Given the description of an element on the screen output the (x, y) to click on. 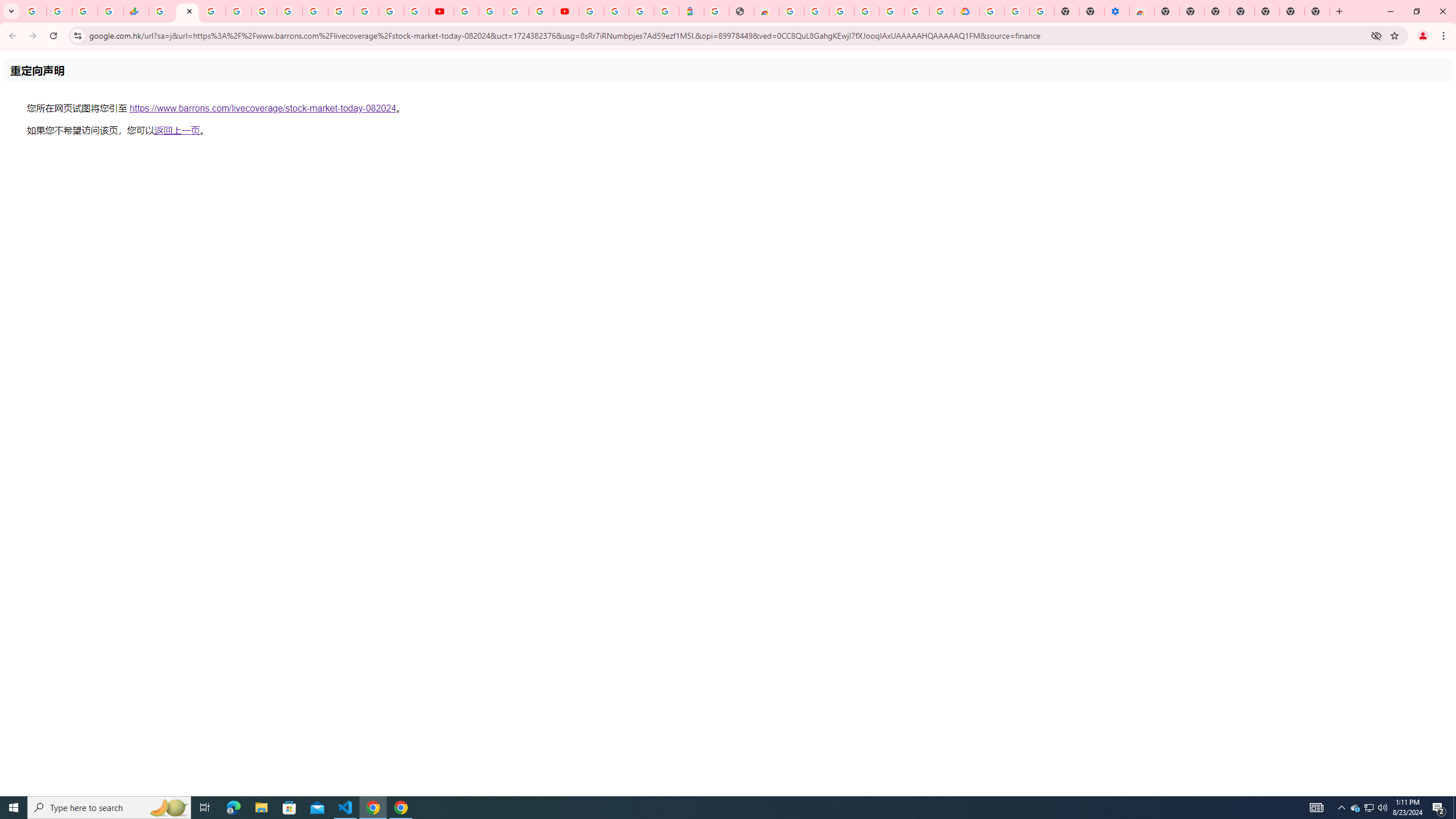
Sign in - Google Accounts (590, 11)
New Tab (1317, 11)
YouTube (465, 11)
Turn cookies on or off - Computer - Google Account Help (1042, 11)
Settings - Accessibility (1116, 11)
Google Workspace Admin Community (34, 11)
New Tab (1166, 11)
